Given the description of an element on the screen output the (x, y) to click on. 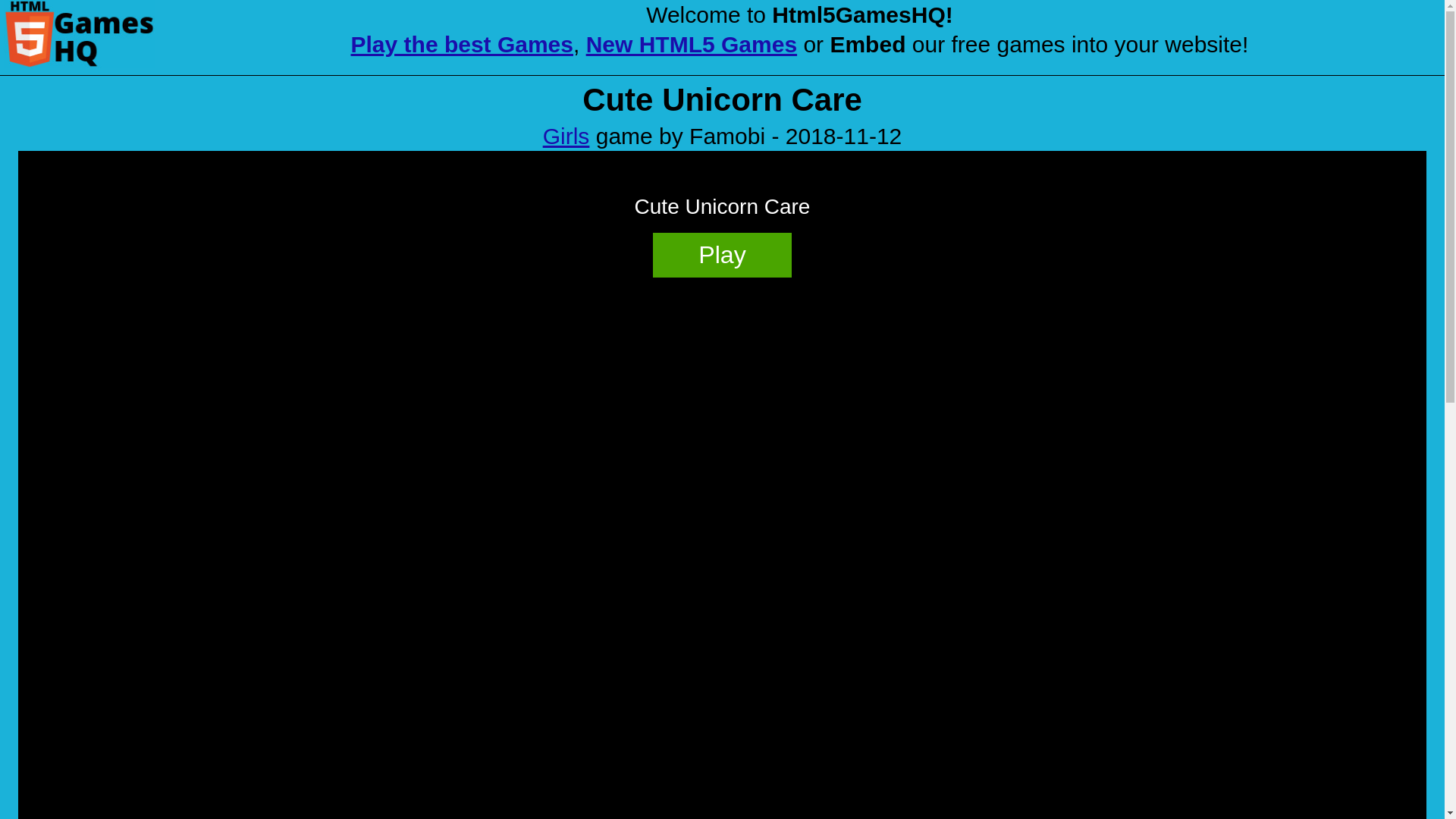
New HTML5 Games (691, 43)
Play the best Games (461, 43)
Girls (566, 135)
Html5 Game Index (79, 33)
